Given the description of an element on the screen output the (x, y) to click on. 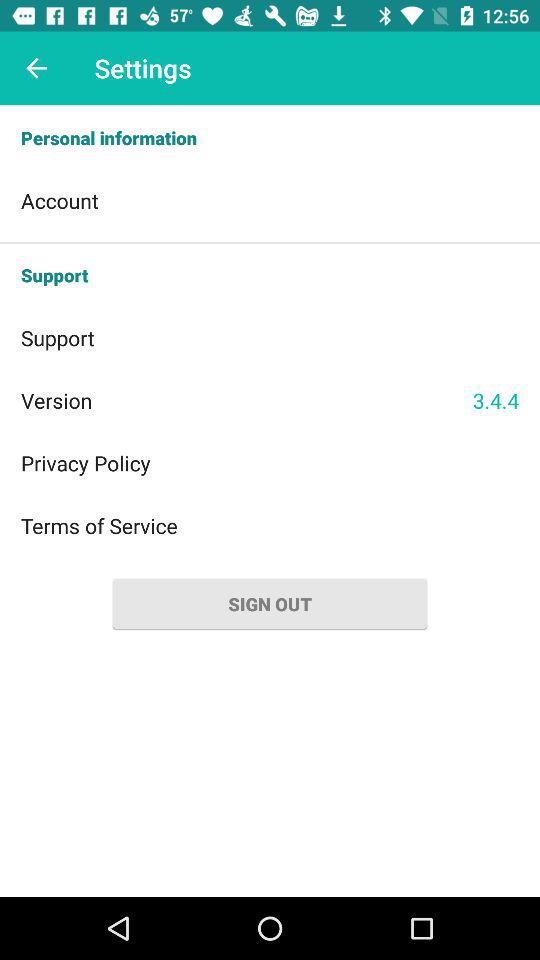
open the item to the left of the 3.4.4 icon (246, 400)
